Given the description of an element on the screen output the (x, y) to click on. 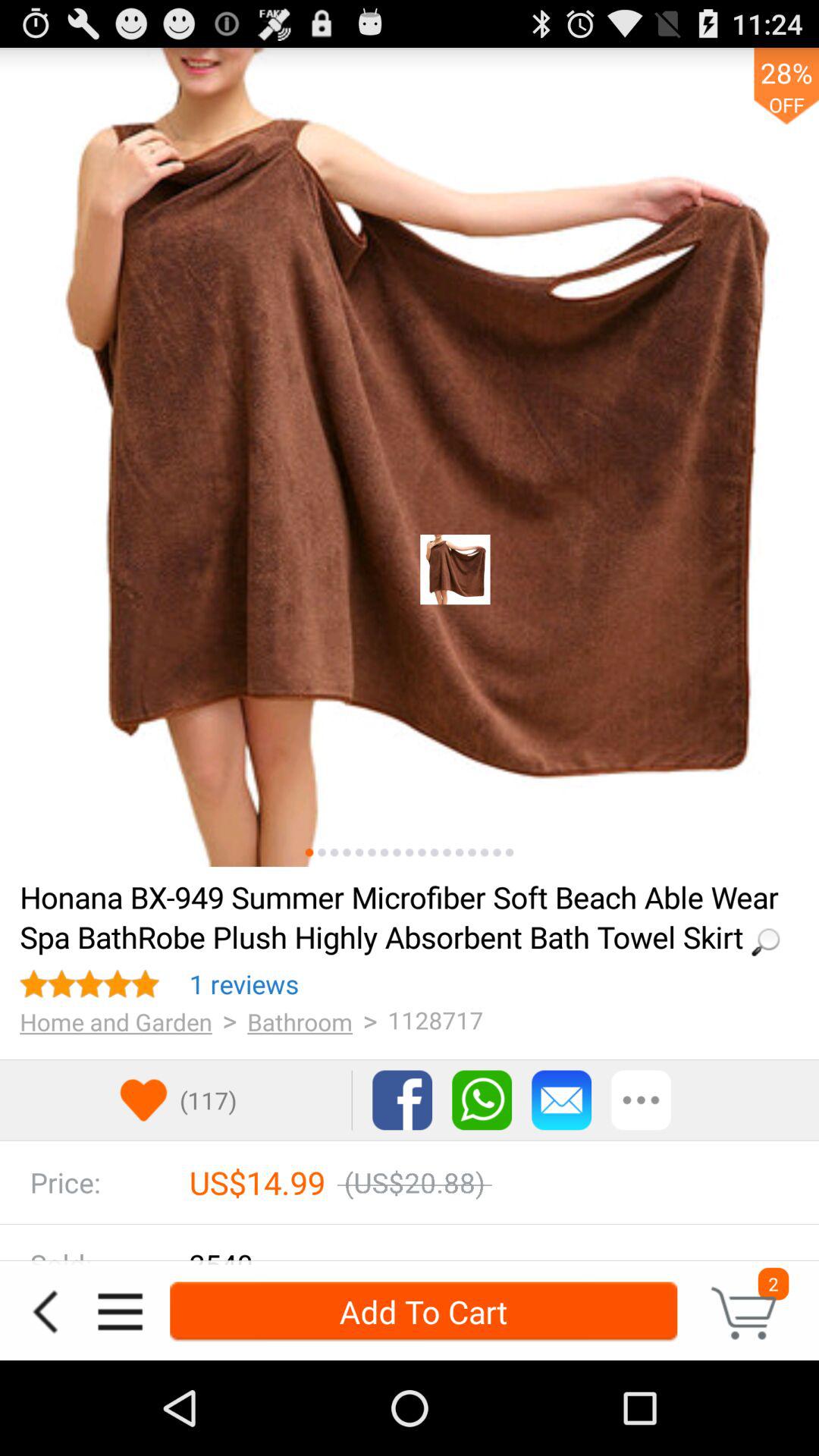
settings (120, 1311)
